Given the description of an element on the screen output the (x, y) to click on. 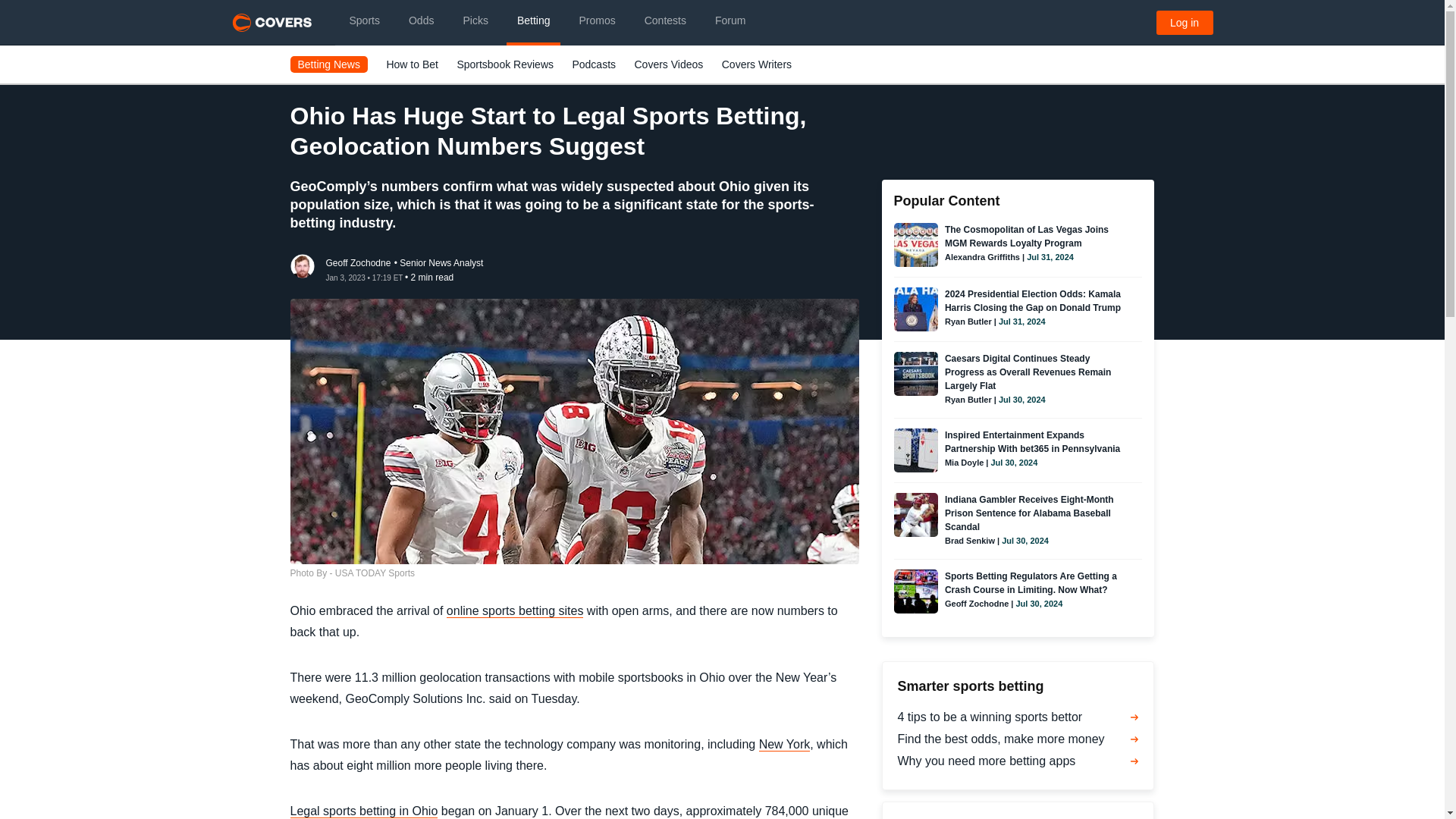
Sports (363, 22)
